Given the description of an element on the screen output the (x, y) to click on. 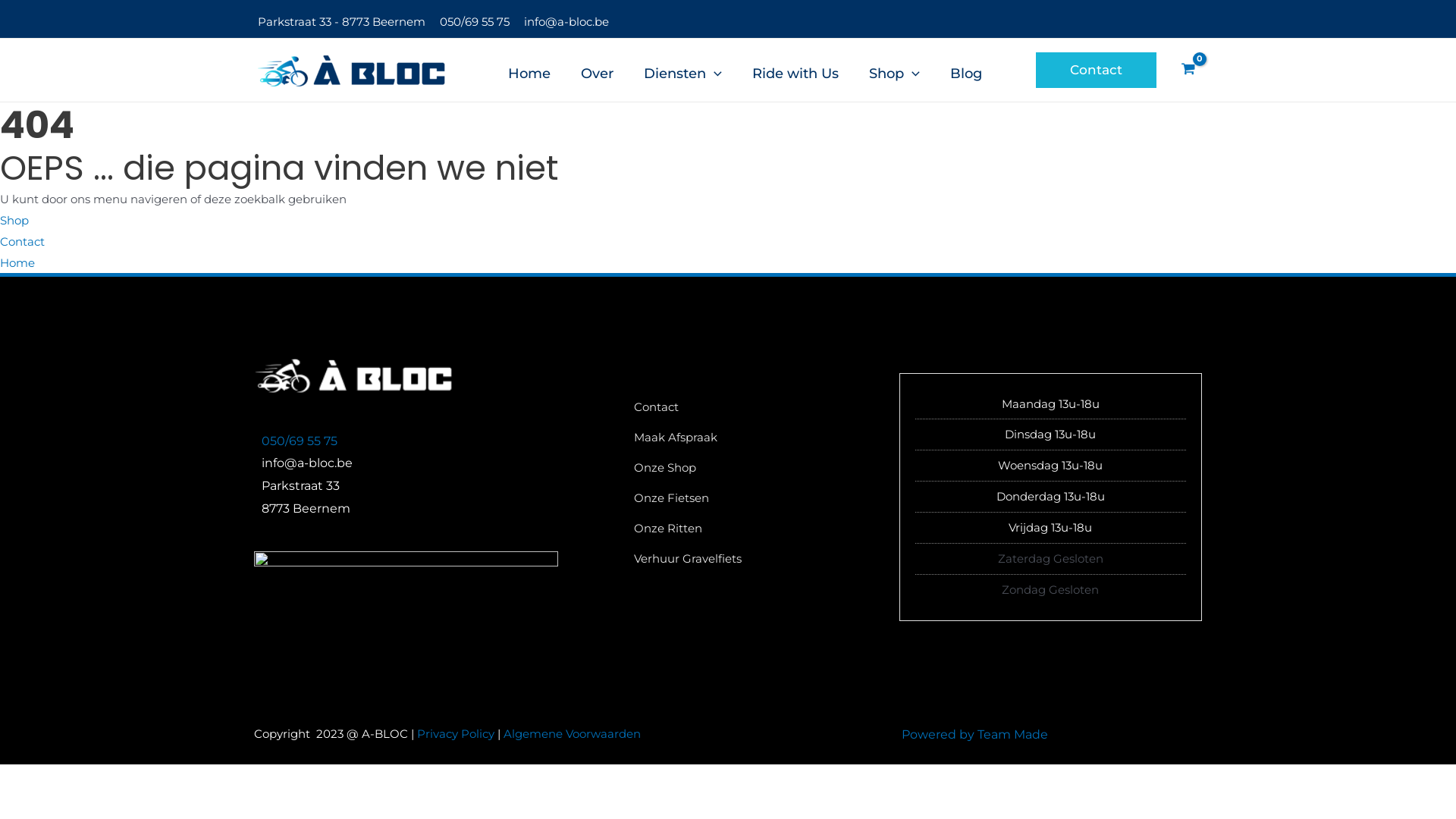
Shop Element type: text (894, 69)
050/69 55 75 Element type: text (474, 21)
Home Element type: text (17, 262)
Contact Element type: text (655, 411)
Maak Afspraak Element type: text (675, 441)
Ride with Us Element type: text (795, 69)
Blog Element type: text (966, 69)
Contact Element type: text (22, 241)
Onze Fietsen Element type: text (671, 502)
Diensten Element type: text (682, 69)
Algemene Voorwaarden Element type: text (571, 733)
Onze Ritten Element type: text (667, 532)
050/69 55 75 Element type: text (299, 440)
Shop Element type: text (14, 220)
Home Element type: text (528, 69)
info@a-bloc.be Element type: text (566, 21)
Privacy Policy Element type: text (455, 733)
Onze Shop Element type: text (664, 472)
Powered by Team Made Element type: text (973, 734)
Over Element type: text (596, 69)
Verhuur Gravelfiets Element type: text (687, 563)
Contact Element type: text (1095, 69)
